Given the description of an element on the screen output the (x, y) to click on. 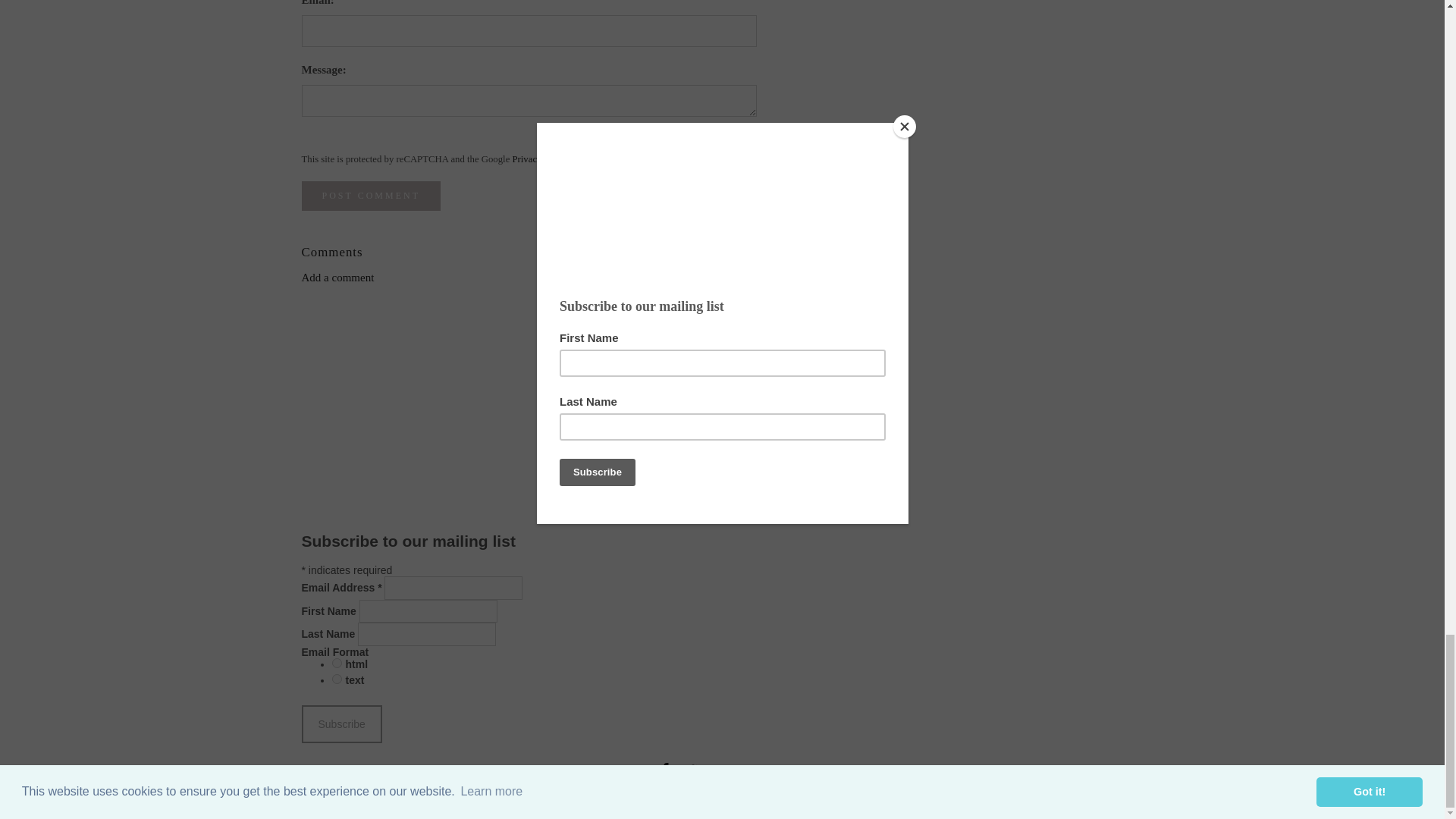
facebook (665, 771)
twitter (690, 771)
Privacy Policy (540, 158)
html (336, 663)
Subscribe (341, 723)
text (336, 678)
